Given the description of an element on the screen output the (x, y) to click on. 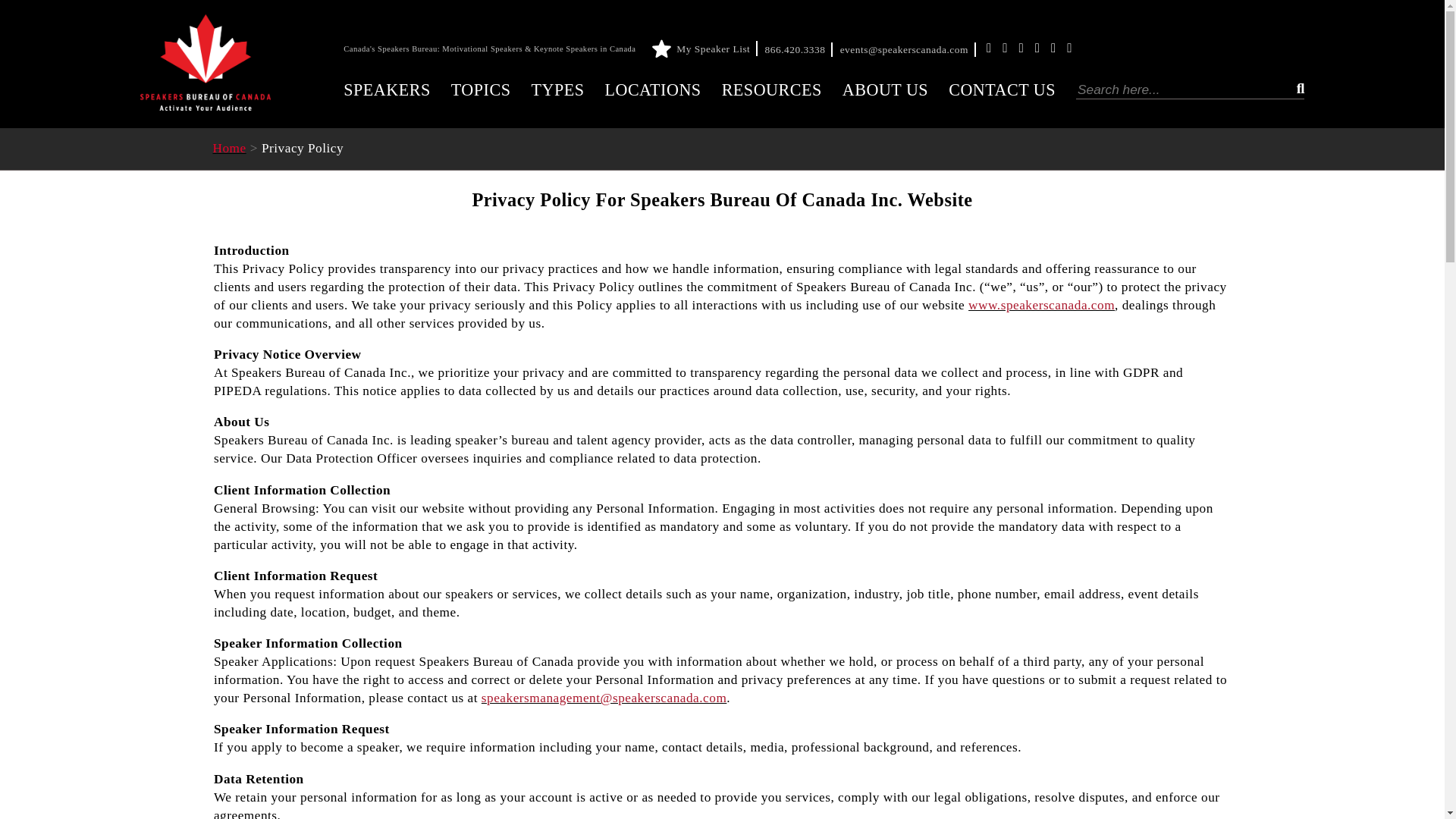
LOCATIONS (652, 89)
866.420.3338 (798, 49)
TOPICS (481, 89)
TYPES (557, 89)
ABOUT US (885, 89)
My Speaker List (707, 49)
SPEAKERS (386, 89)
www.speakerscanada.com (1041, 305)
CONTACT US (1002, 89)
RESOURCES (772, 89)
